Given the description of an element on the screen output the (x, y) to click on. 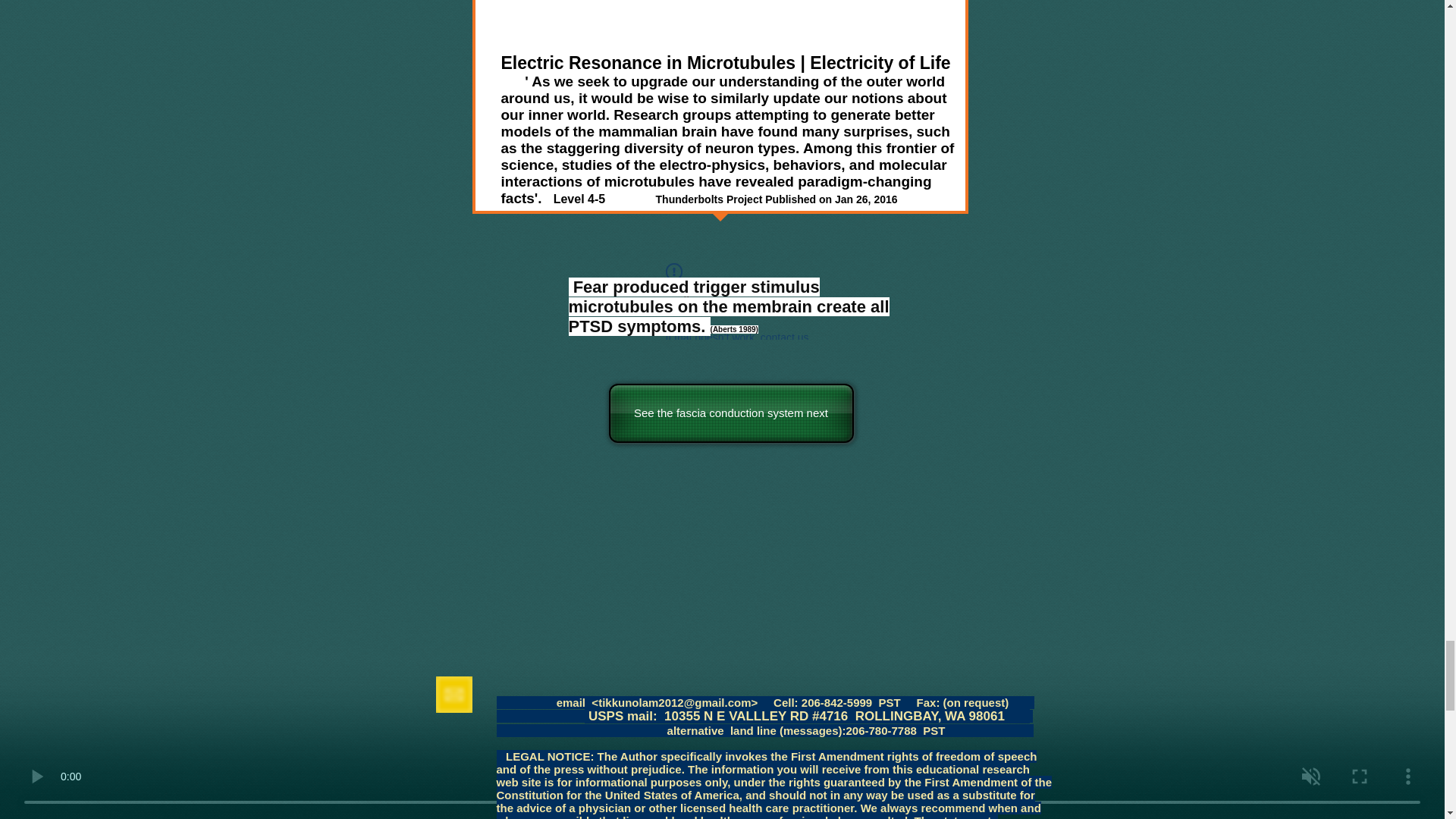
External YouTube (720, 22)
